Given the description of an element on the screen output the (x, y) to click on. 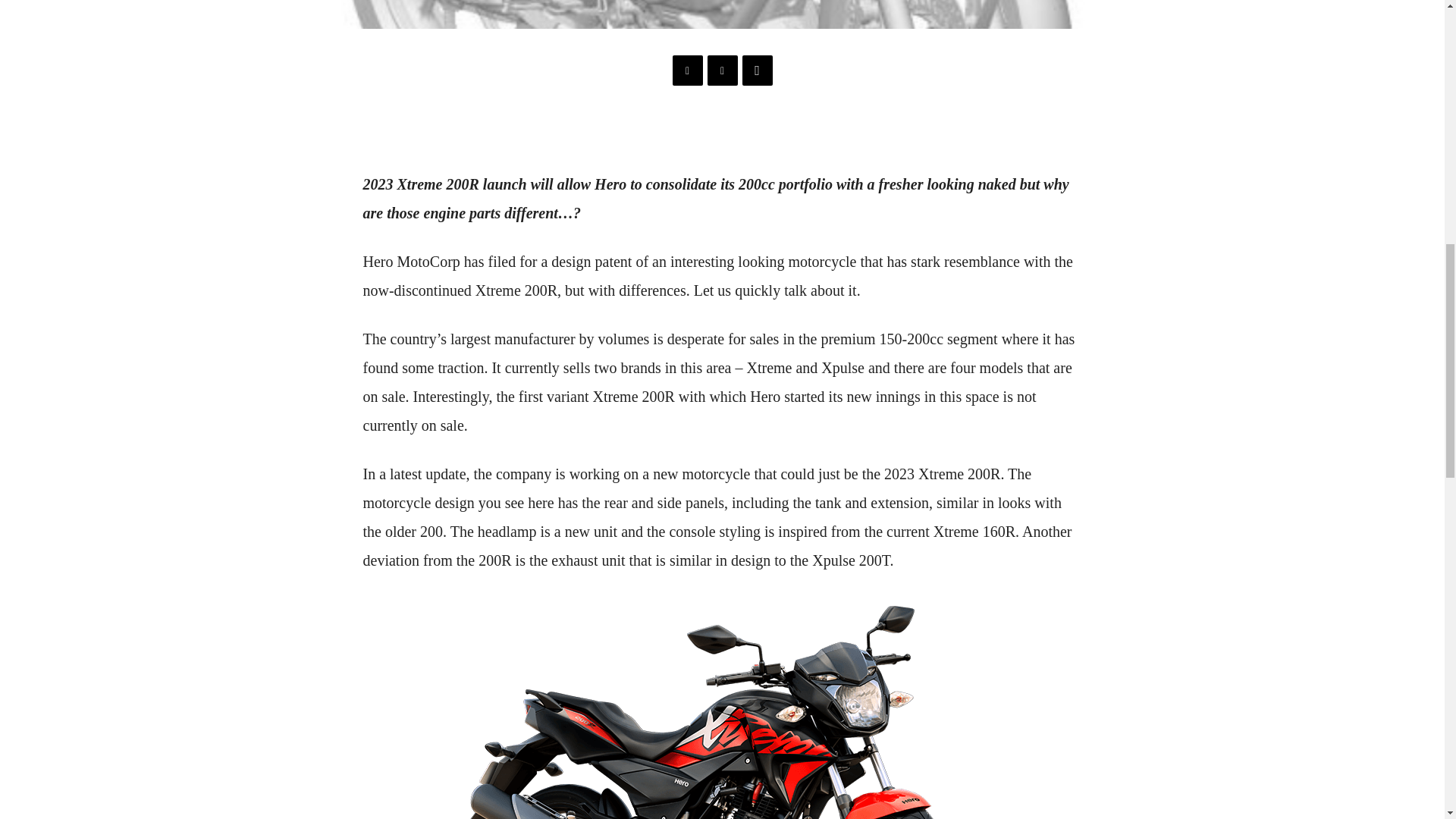
Facebook (686, 70)
